Given the description of an element on the screen output the (x, y) to click on. 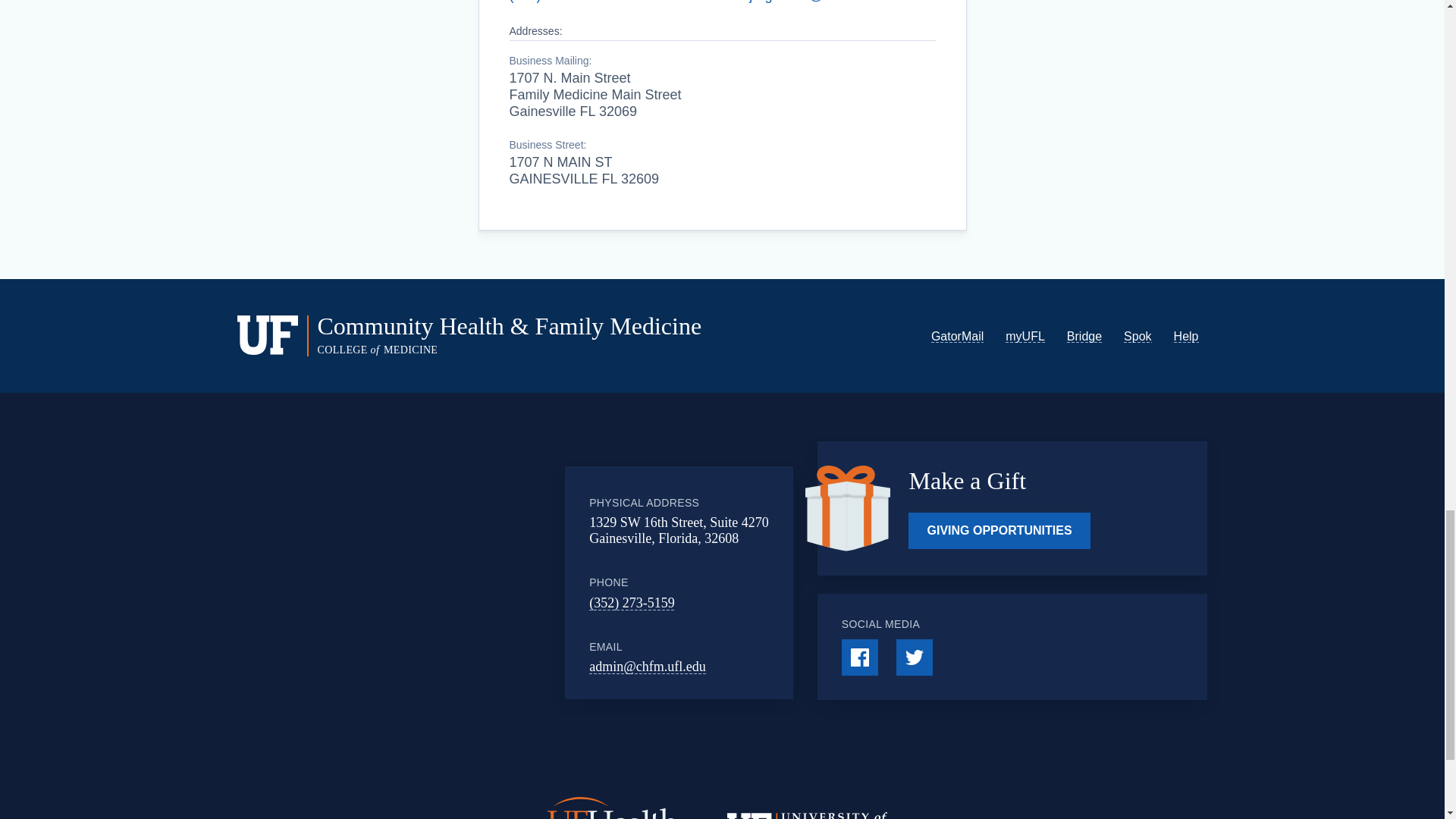
Bridge (1084, 336)
Help (1185, 336)
Spok (1137, 336)
Google Maps Embed (448, 582)
myUFL (1025, 336)
GatorMail (957, 336)
